Given the description of an element on the screen output the (x, y) to click on. 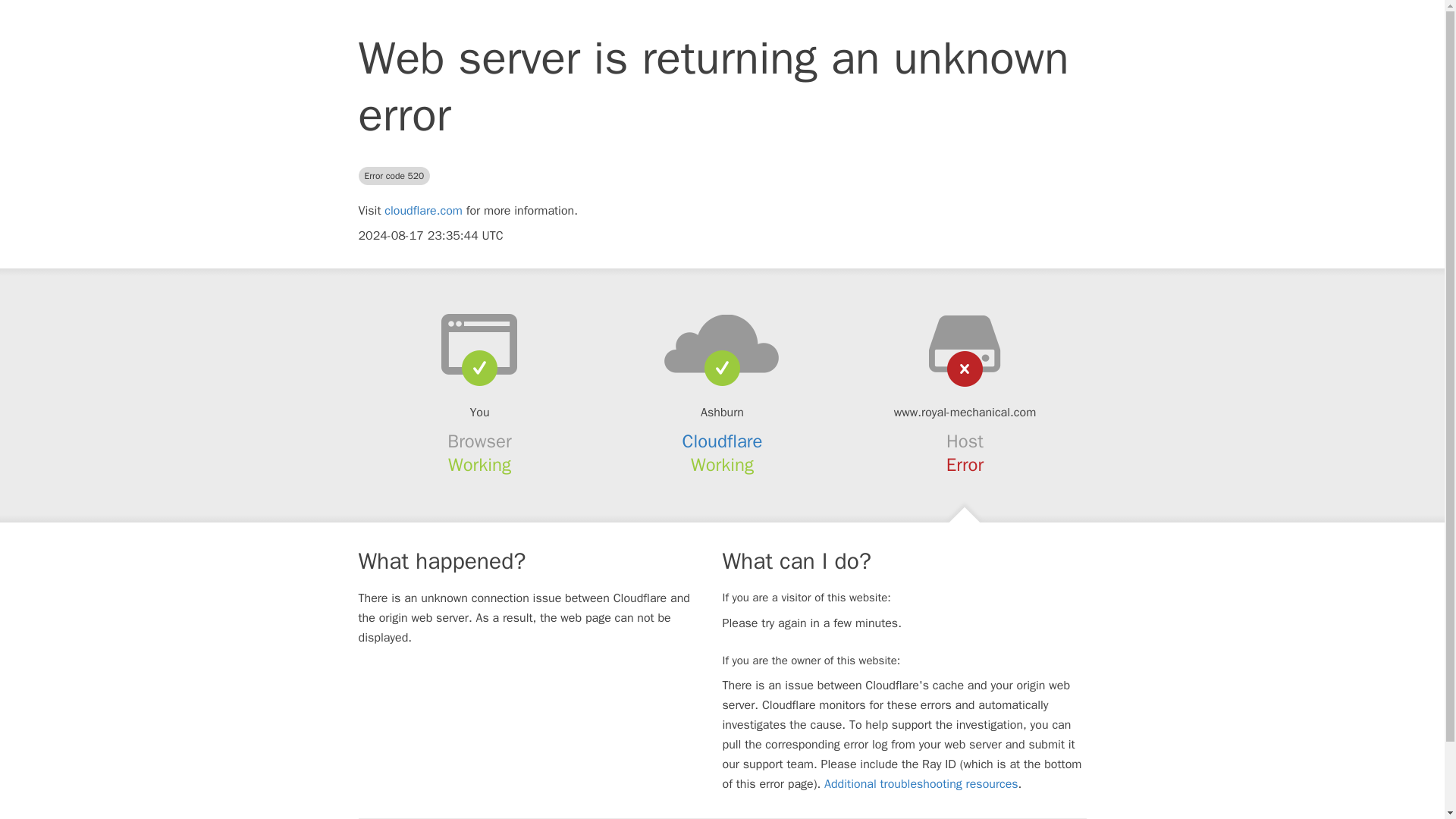
Additional troubleshooting resources (920, 783)
Cloudflare (722, 440)
cloudflare.com (423, 210)
